Given the description of an element on the screen output the (x, y) to click on. 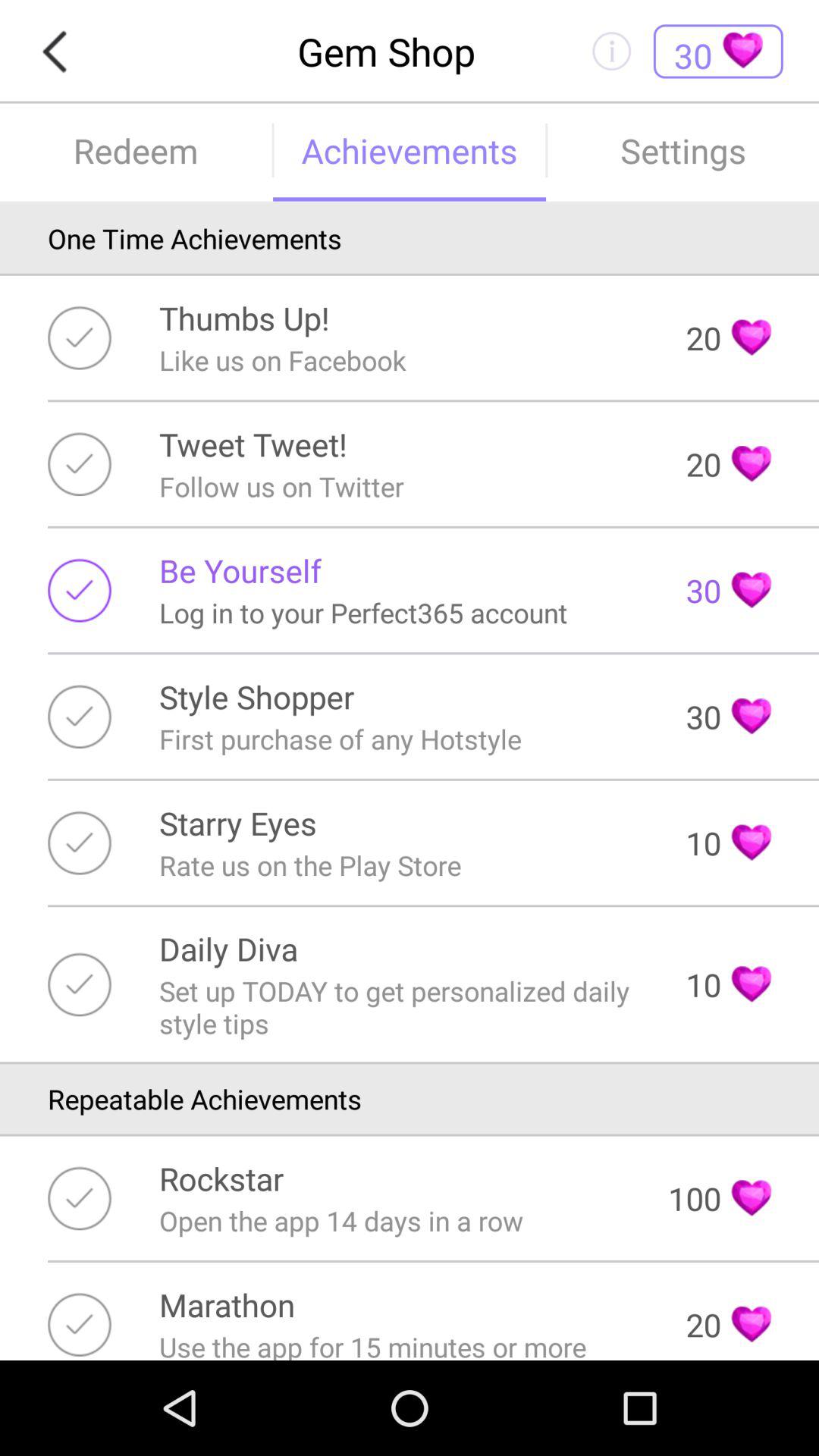
press item next to 30 (240, 570)
